Given the description of an element on the screen output the (x, y) to click on. 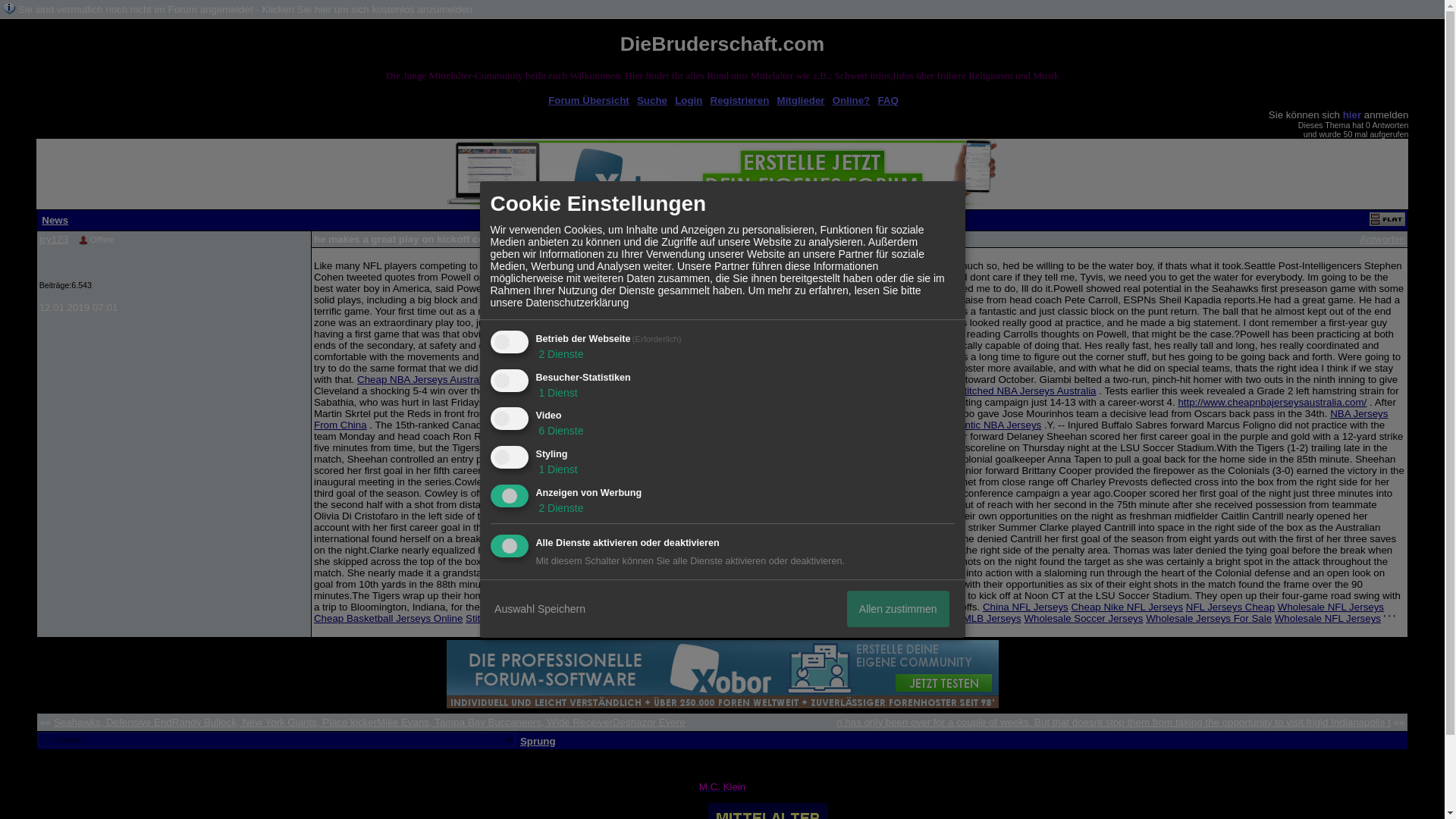
Online? (851, 100)
Stitched NBA Jerseys Australia (1027, 390)
Stitched Hockey Jerseys (520, 618)
Wholesale Soccer Jerseys (1082, 618)
Cheap MLB Jerseys (976, 618)
Sprung (537, 740)
Wholesale NFL Jerseys (1327, 618)
Mitglieder (801, 100)
China NFL Jerseys (1025, 606)
hier (1351, 114)
Wholesale Jerseys For Sale (1208, 618)
NBA Jerseys From China (850, 418)
Antworten (1382, 238)
